Given the description of an element on the screen output the (x, y) to click on. 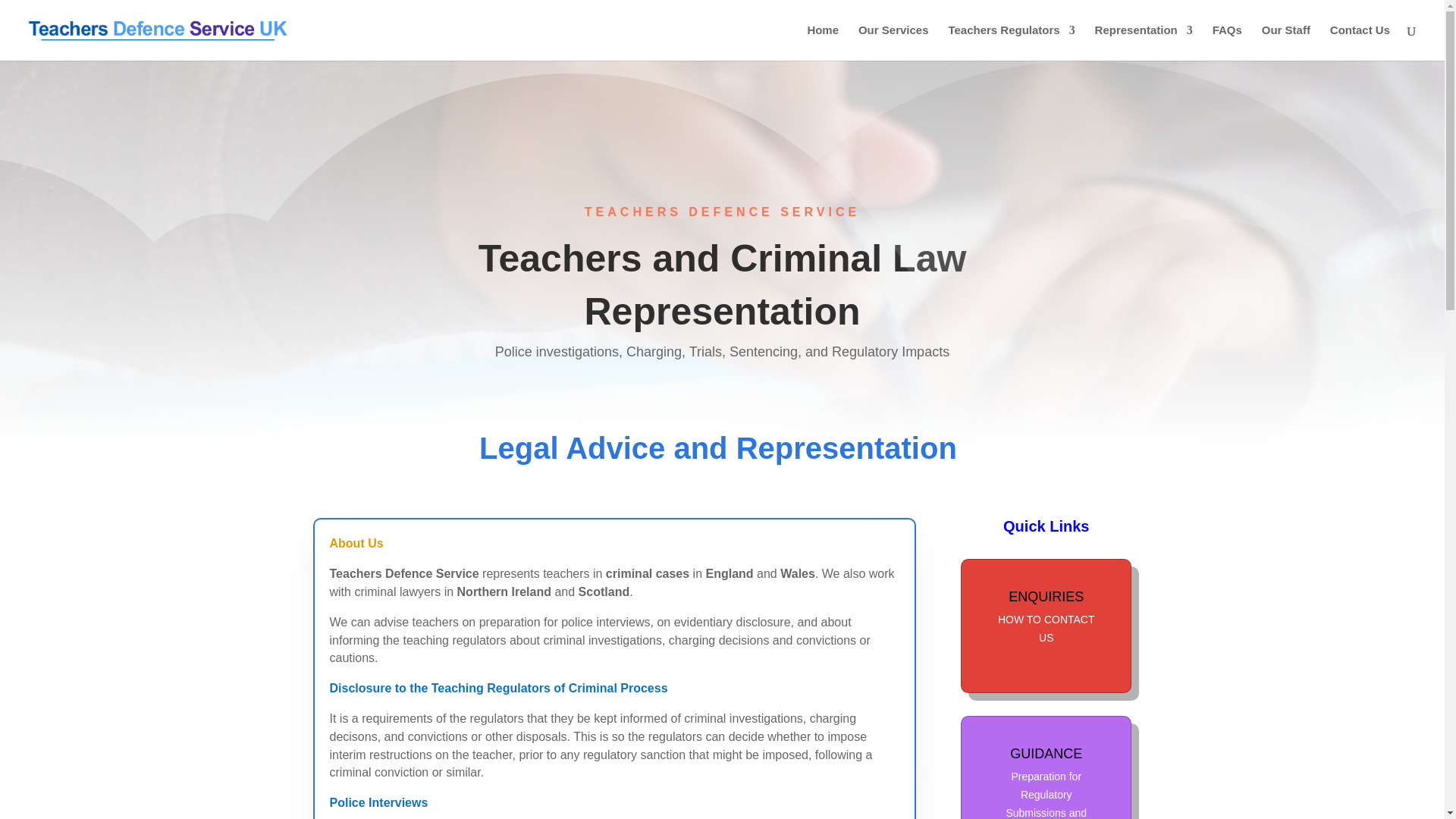
Representation (1143, 42)
Our Staff (1286, 42)
Home (822, 42)
Our Services (893, 42)
Contact Us (1360, 42)
Teachers Regulators (1010, 42)
